Given the description of an element on the screen output the (x, y) to click on. 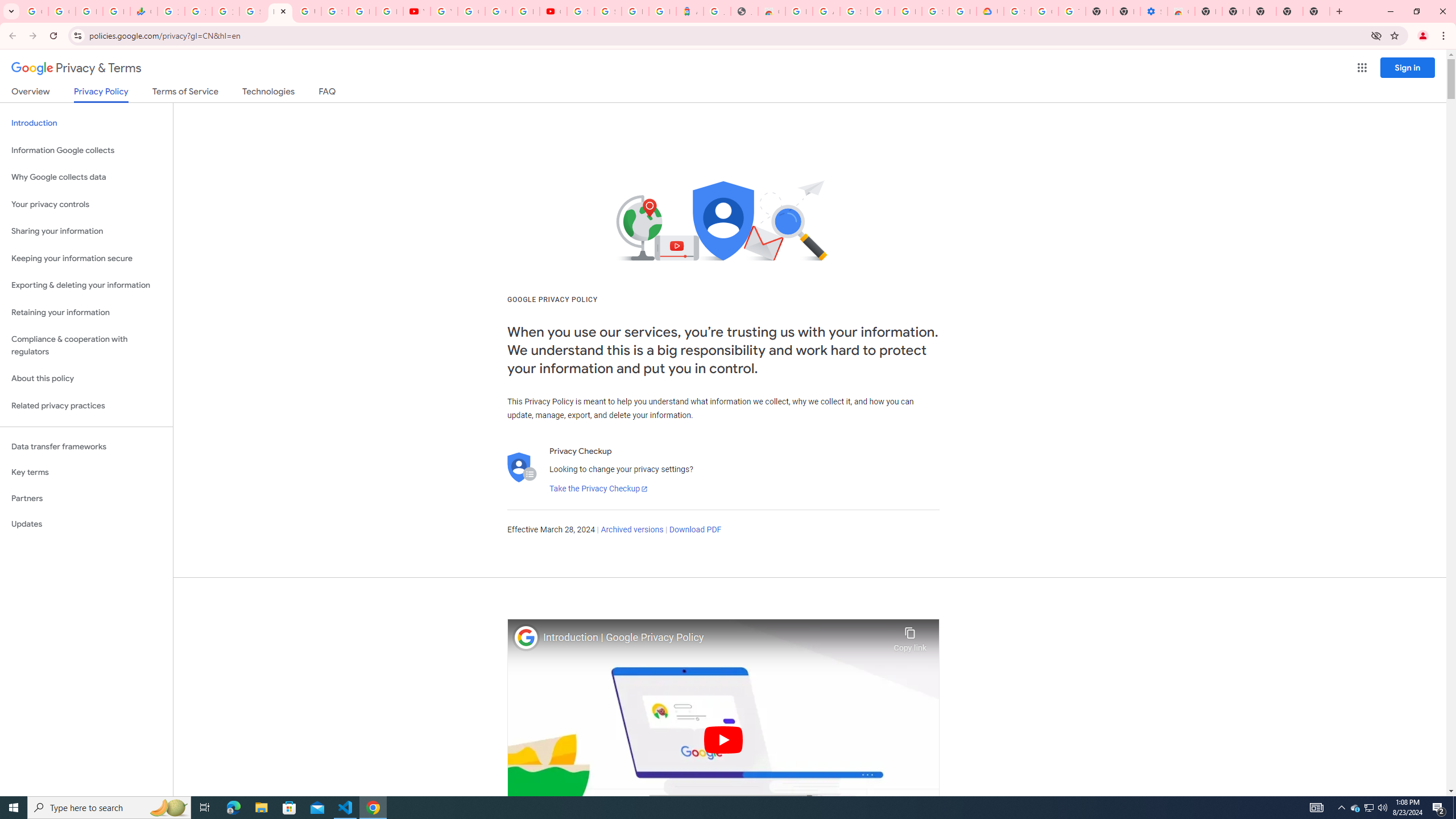
Create your Google Account (498, 11)
Ad Settings (826, 11)
